Given the description of an element on the screen output the (x, y) to click on. 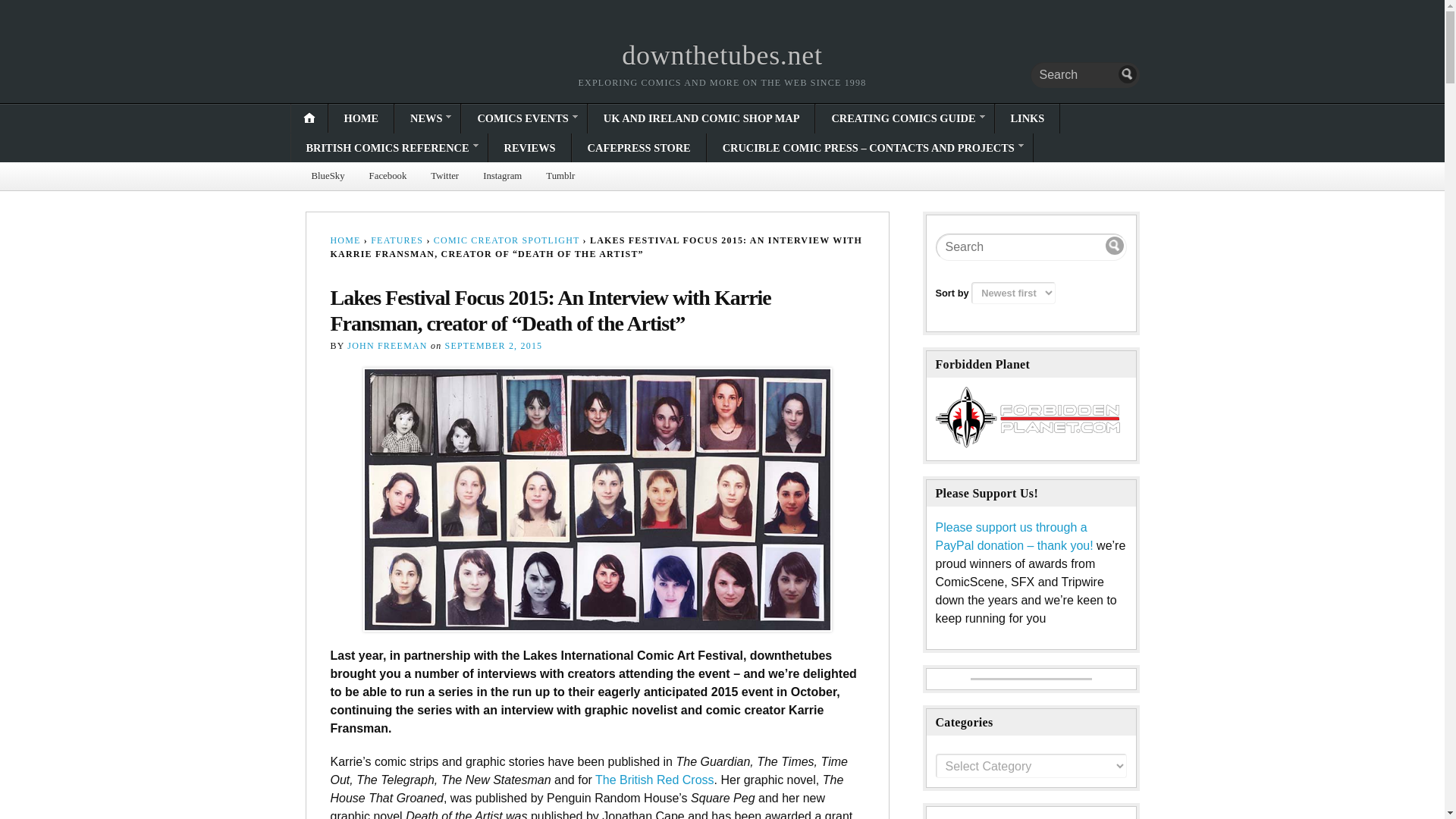
Home (721, 55)
HOME (361, 118)
UK AND IRELAND COMIC SHOP MAP (701, 118)
9:54 am (494, 345)
downthetubes.net (721, 55)
View all posts by John Freeman (386, 345)
NEWS (427, 118)
BRITISH COMICS REFERENCE (389, 147)
CREATING COMICS GUIDE (903, 118)
COMICS EVENTS (523, 118)
LINKS (1026, 118)
